Given the description of an element on the screen output the (x, y) to click on. 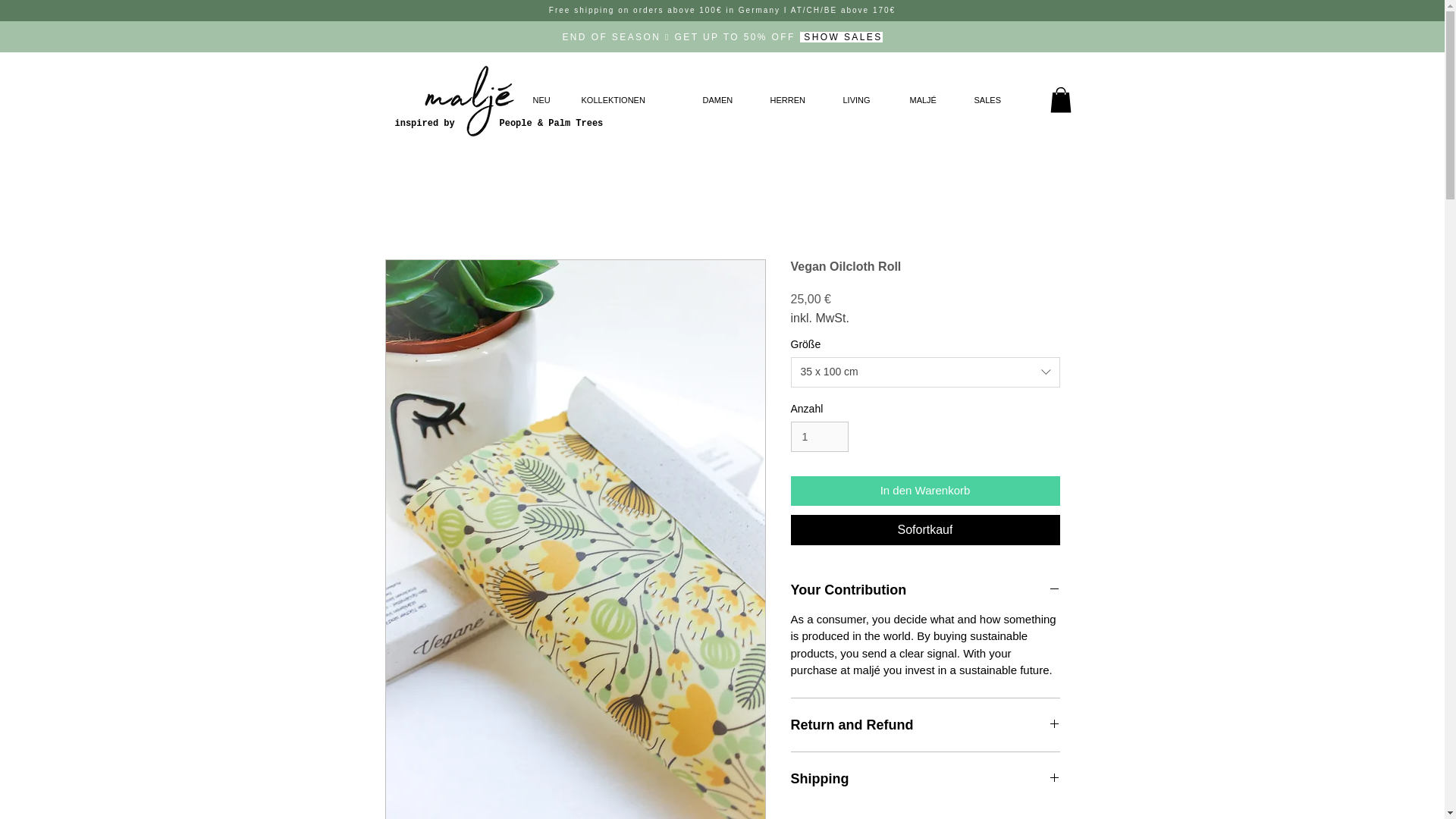
HERREN (794, 99)
KOLLEKTIONEN (630, 99)
1 (818, 436)
NEU (545, 99)
DAMEN (724, 99)
LIVING (864, 99)
